Given the description of an element on the screen output the (x, y) to click on. 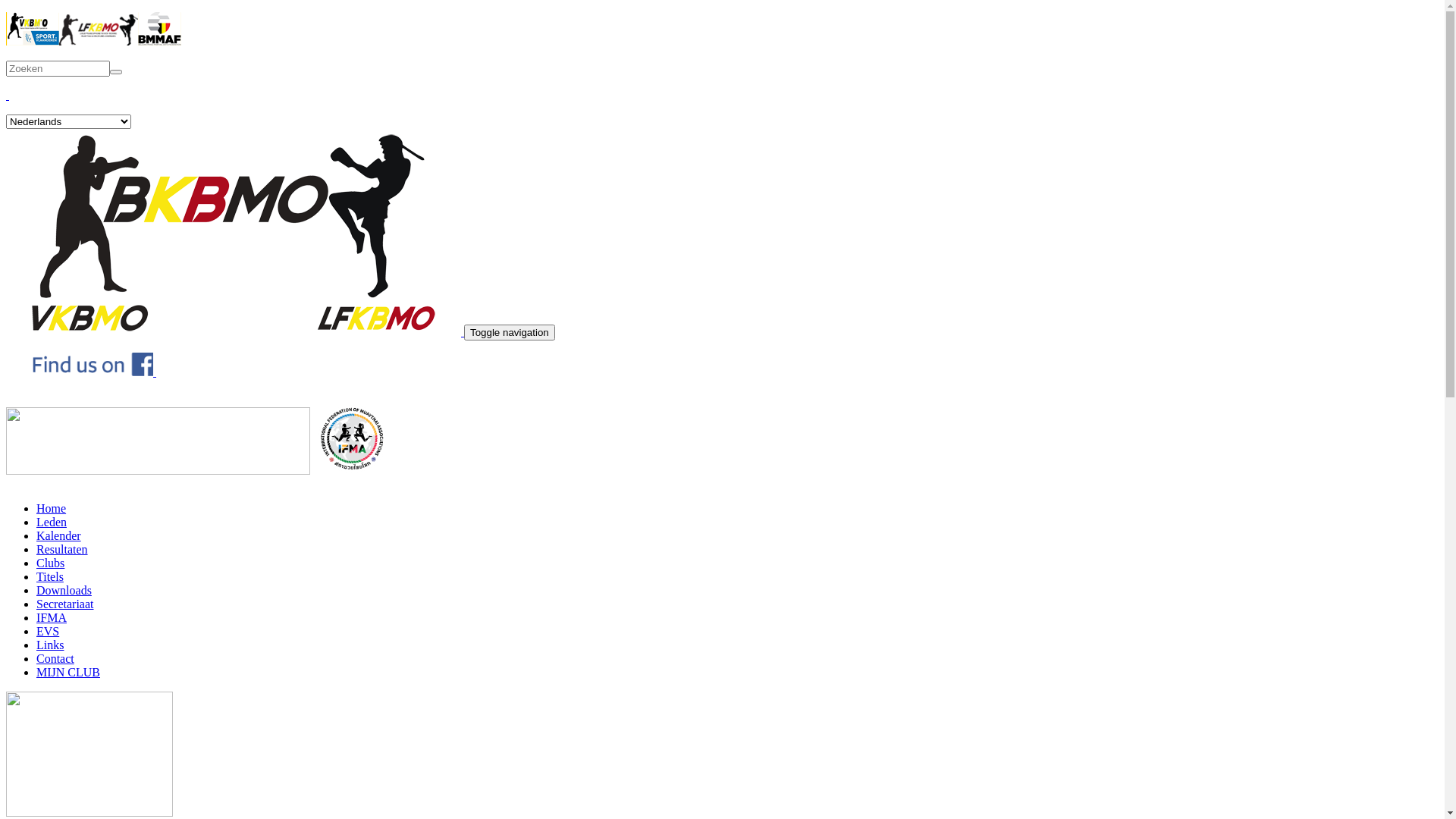
Zoeken Element type: text (28, 78)
  Element type: text (7, 94)
Titels Element type: text (49, 576)
Leden Element type: text (51, 521)
Clubs Element type: text (50, 562)
Contact Element type: text (55, 658)
Home Element type: hover (235, 331)
Links Element type: text (49, 644)
find us on facebook Element type: hover (92, 371)
Toggle navigation Element type: text (509, 332)
Downloads Element type: text (63, 589)
  Element type: text (154, 371)
IFMA Element type: text (51, 617)
Overslaan en naar de inhoud gaan Element type: text (88, 12)
Resultaten Element type: text (61, 548)
Geef de woorden op waarnaar u wilt zoeken. Element type: hover (57, 68)
Home Element type: text (50, 508)
MIJN CLUB Element type: text (68, 671)
Kalender Element type: text (58, 535)
Secretariaat Element type: text (65, 603)
find us on facebook Element type: hover (154, 371)
EVS Element type: text (47, 630)
